Given the description of an element on the screen output the (x, y) to click on. 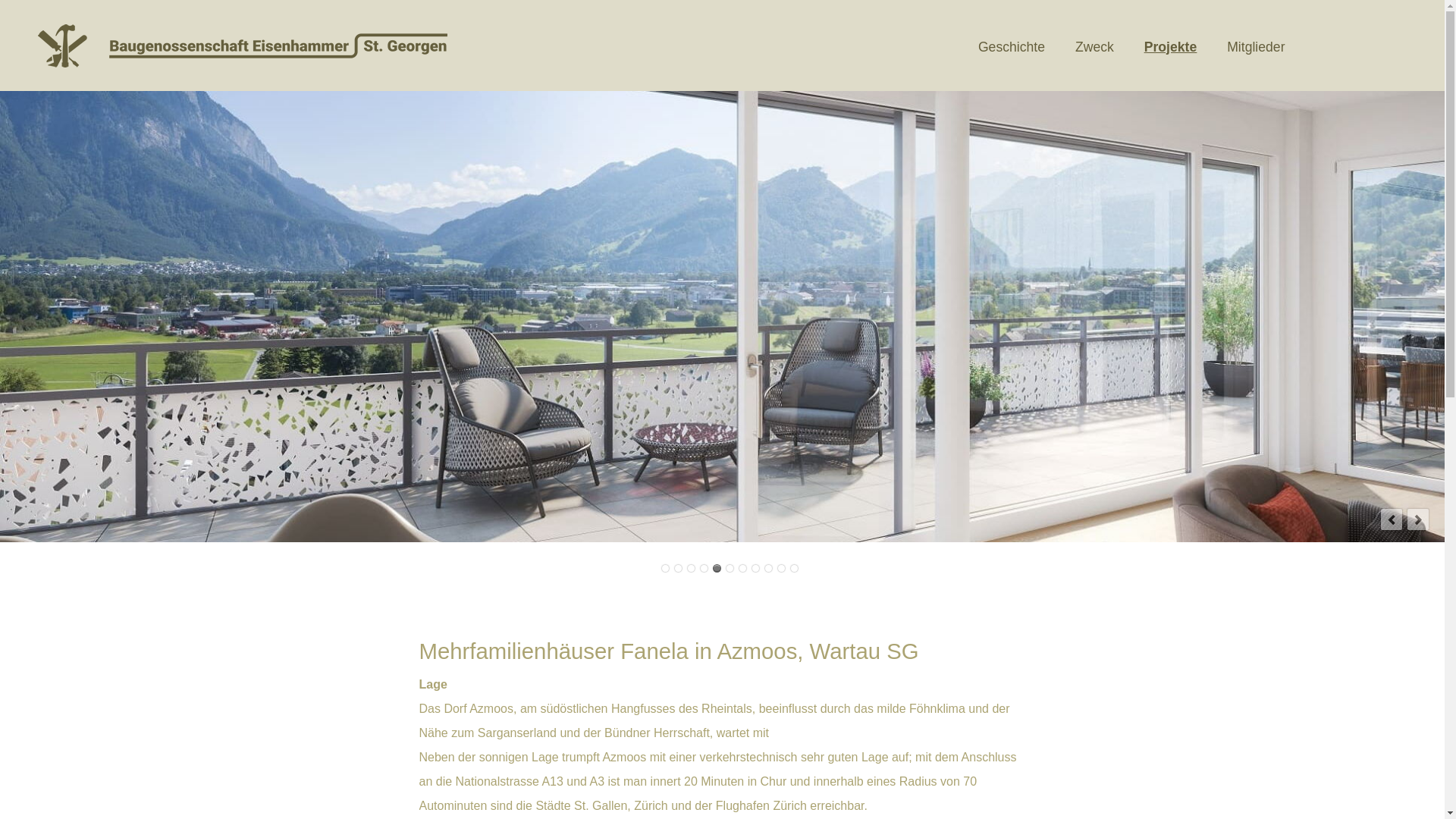
Mitglieder Element type: text (1255, 47)
4 Element type: text (703, 567)
Geschichte Element type: text (1011, 47)
10 Element type: text (781, 567)
6 Element type: text (729, 567)
2 Element type: text (677, 567)
9 Element type: text (768, 567)
11 Element type: text (793, 567)
8 Element type: text (755, 567)
Zweck Element type: text (1094, 47)
5 Element type: text (716, 567)
7 Element type: text (742, 567)
3 Element type: text (690, 567)
Projekte Element type: text (1170, 47)
1 Element type: text (665, 567)
